Given the description of an element on the screen output the (x, y) to click on. 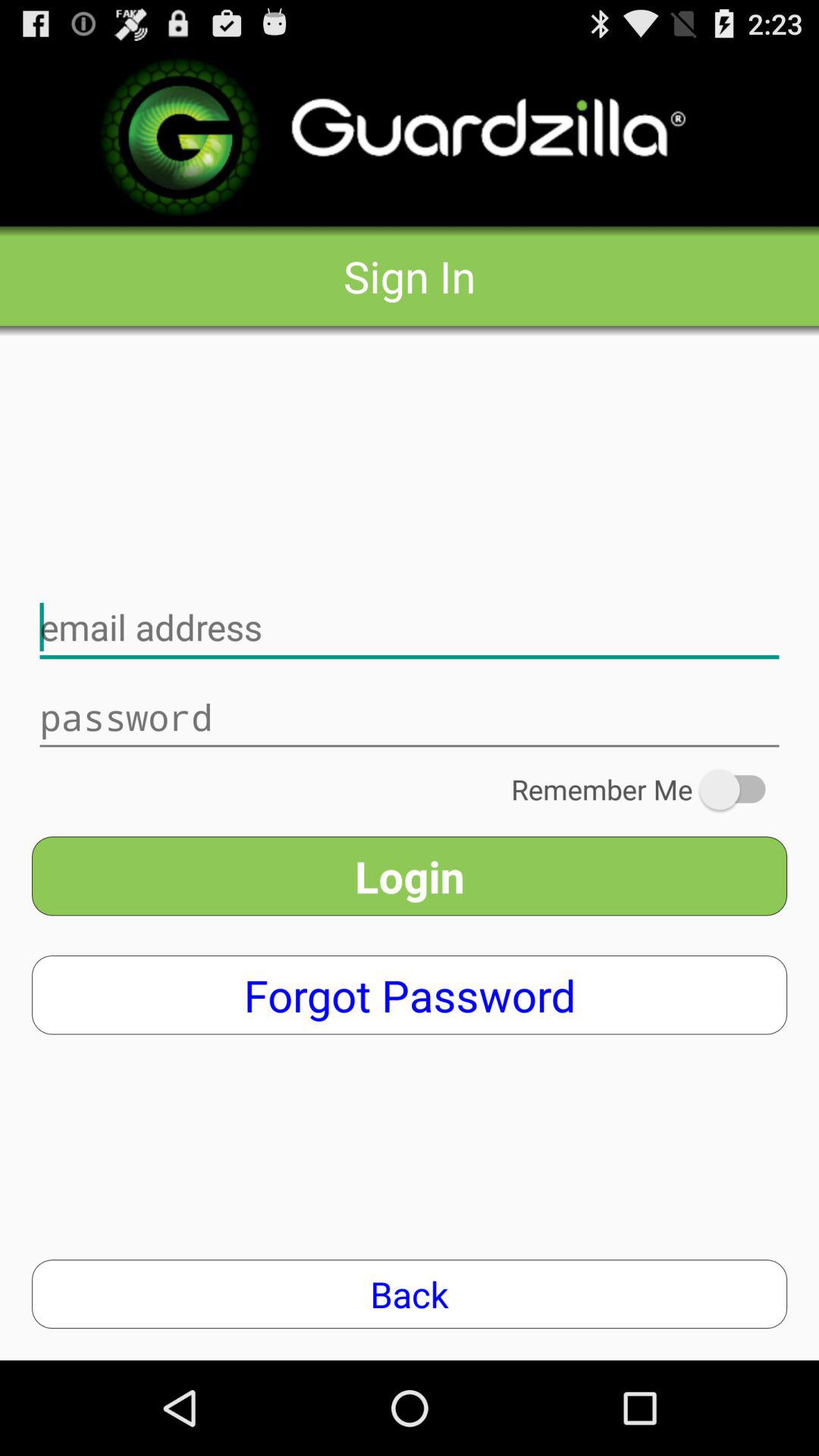
enter email address (409, 627)
